Given the description of an element on the screen output the (x, y) to click on. 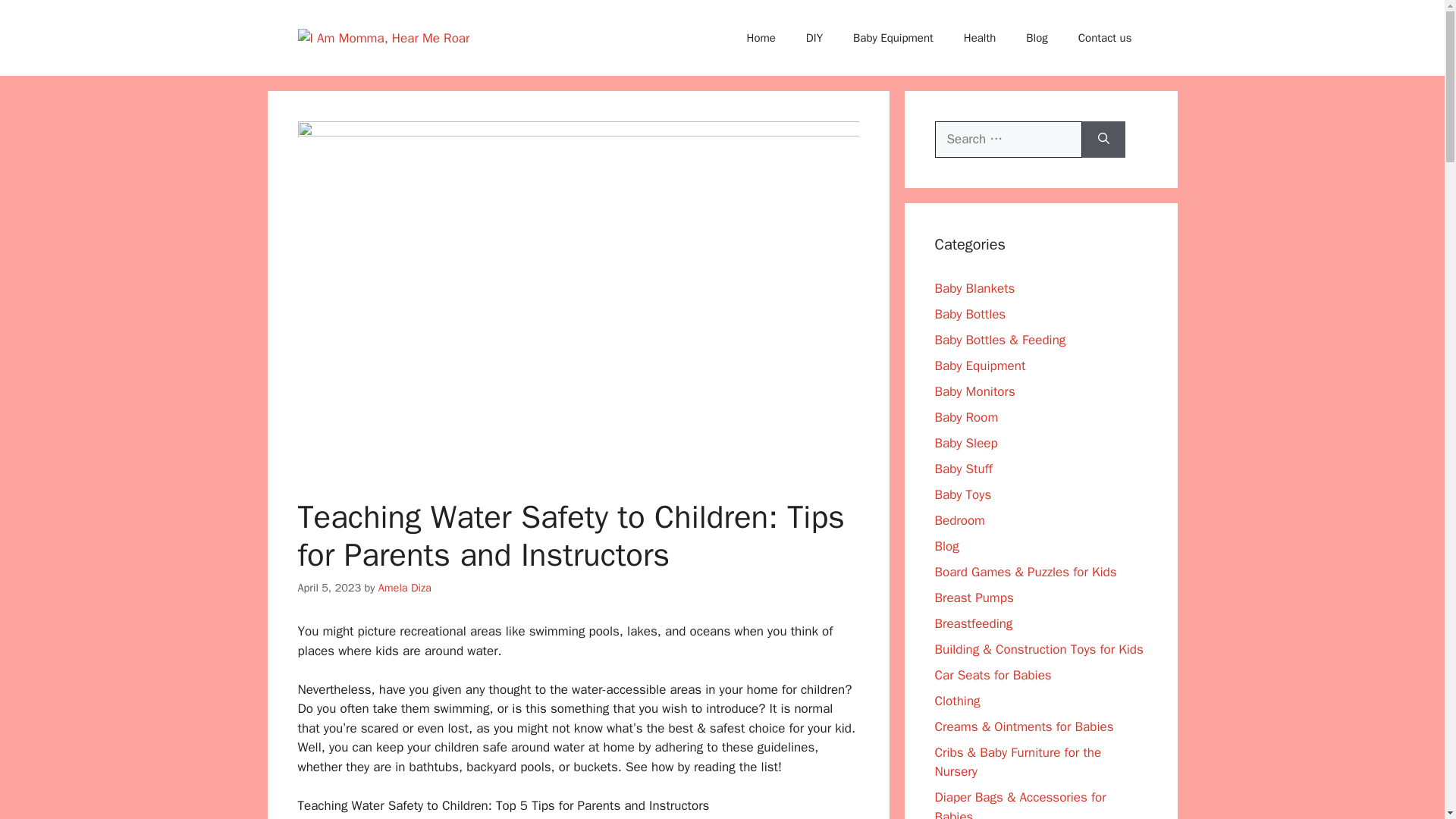
Baby Equipment (979, 365)
View all posts by Amela Diza (404, 587)
Baby Sleep (965, 442)
Baby Blankets (974, 288)
Search for: (1007, 139)
Health (980, 37)
Contact us (1104, 37)
Baby Equipment (893, 37)
Amela Diza (404, 587)
Baby Stuff (962, 468)
